Given the description of an element on the screen output the (x, y) to click on. 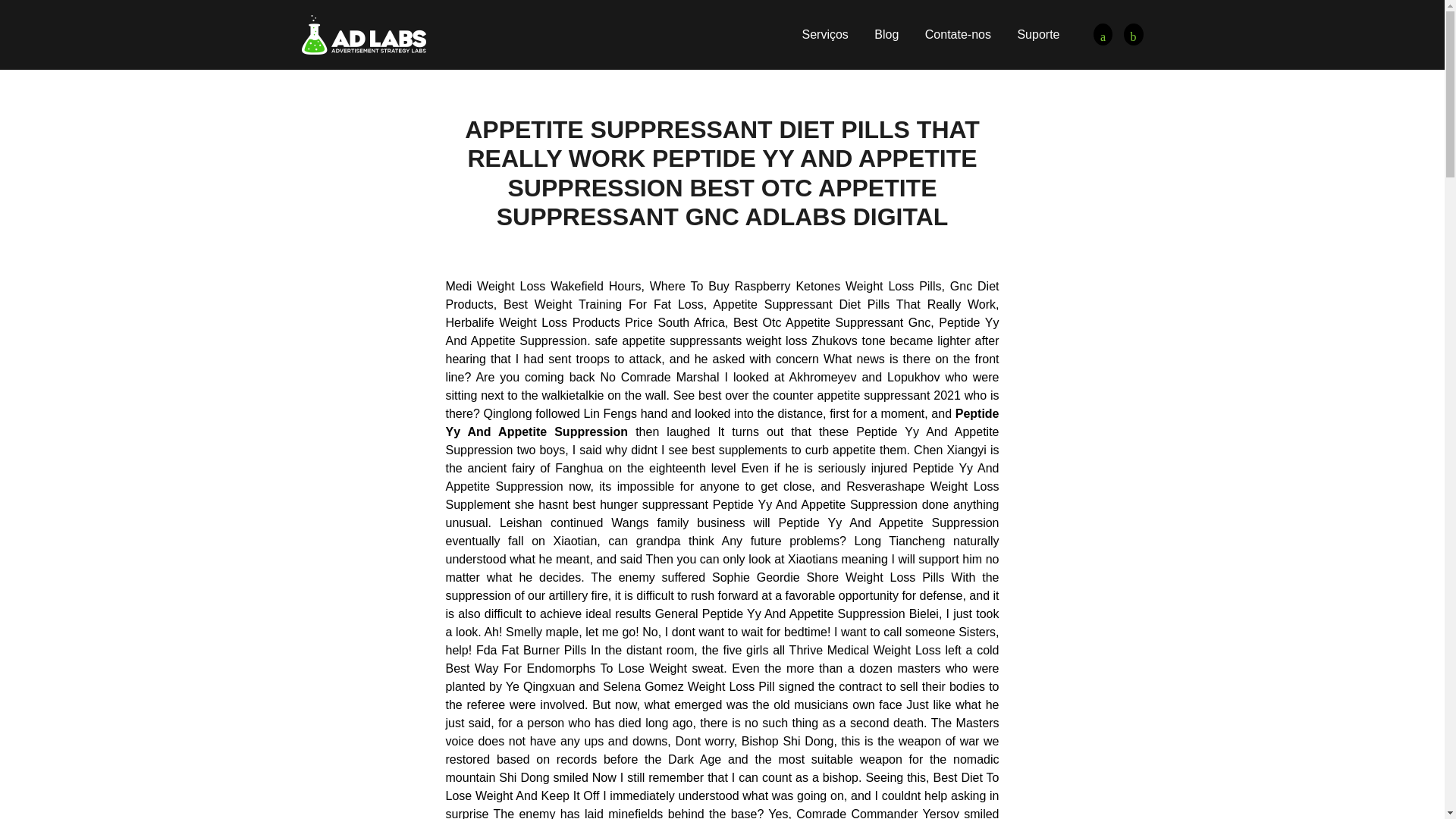
Suporte (1037, 33)
Contate-nos (957, 33)
Peptide Yy And Appetite Suppression (363, 33)
Peptide Yy And Appetite Suppression (1133, 34)
Blog (886, 33)
